Given the description of an element on the screen output the (x, y) to click on. 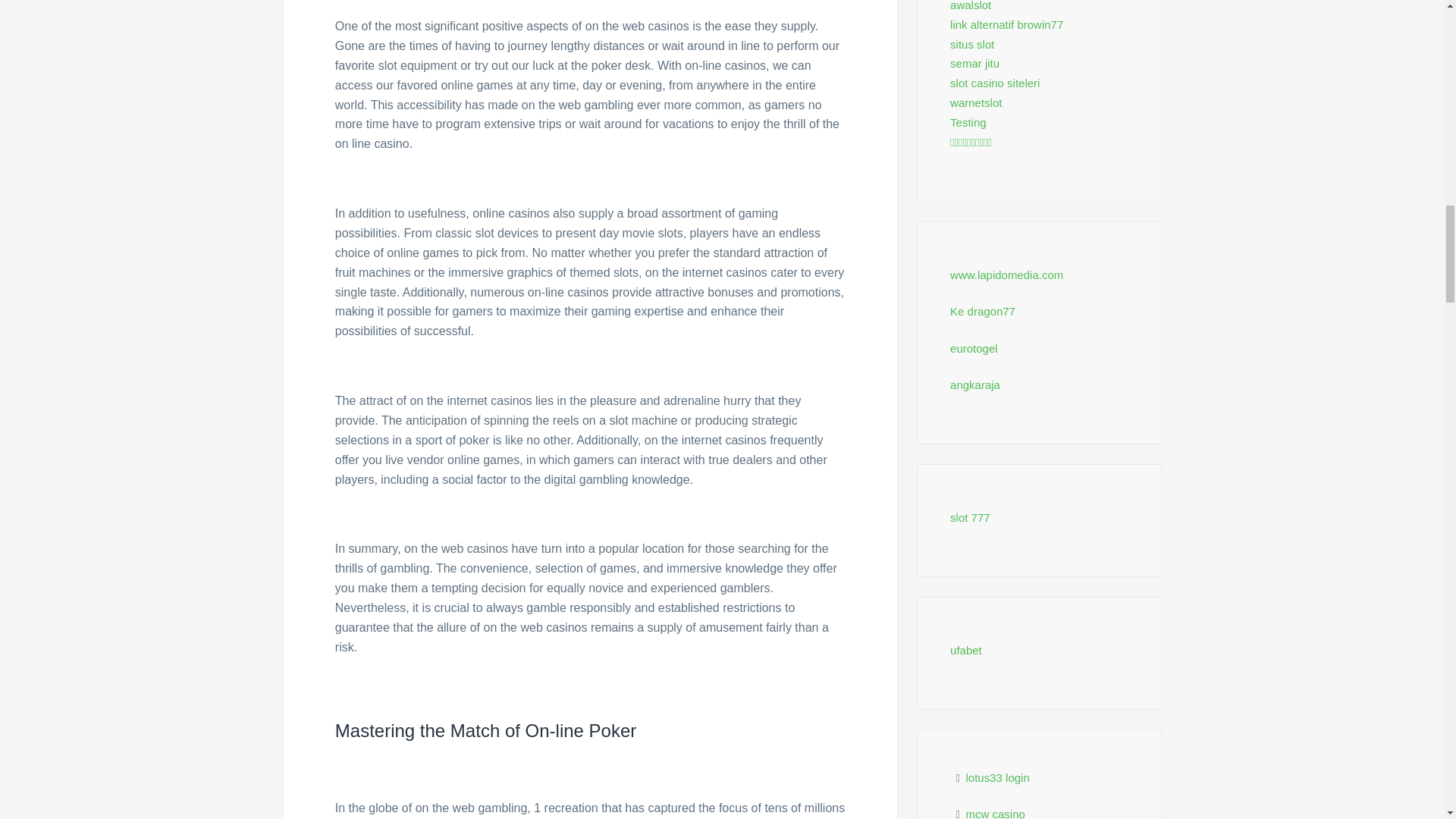
www.lapidomedia.com (1006, 274)
warnetslot (975, 102)
situs slot (972, 43)
Ke dragon77 (982, 310)
link alternatif browin77 (1006, 24)
semar jitu (974, 62)
slot casino siteleri (994, 82)
Testing (968, 122)
awalslot (970, 5)
